Given the description of an element on the screen output the (x, y) to click on. 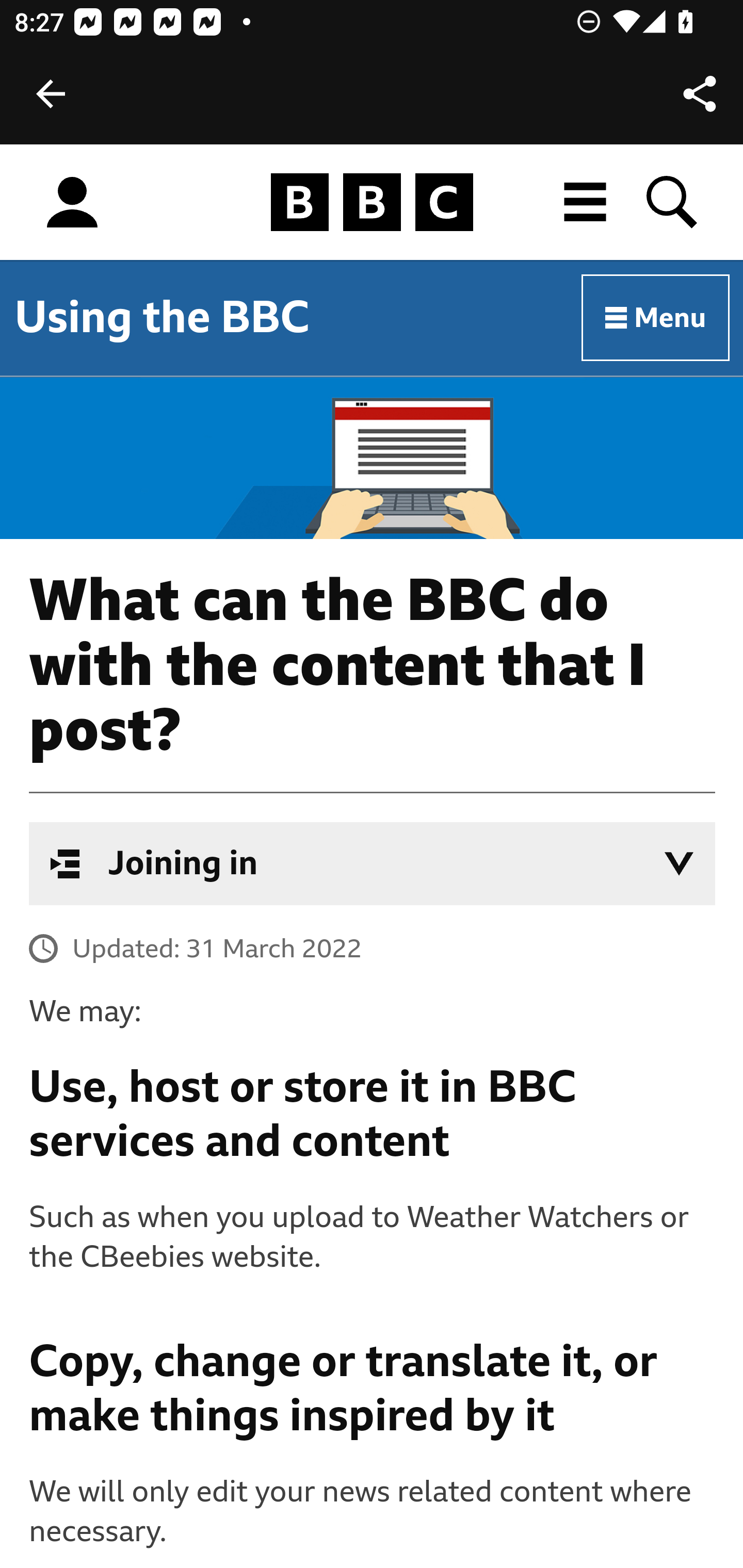
Back (50, 93)
Share (699, 93)
All BBC destinations menu (585, 202)
Search BBC (672, 202)
Sign in (71, 203)
Homepage (371, 203)
Menu (656, 318)
Using the BBC (162, 317)
Open in-page navigation (679, 863)
